Given the description of an element on the screen output the (x, y) to click on. 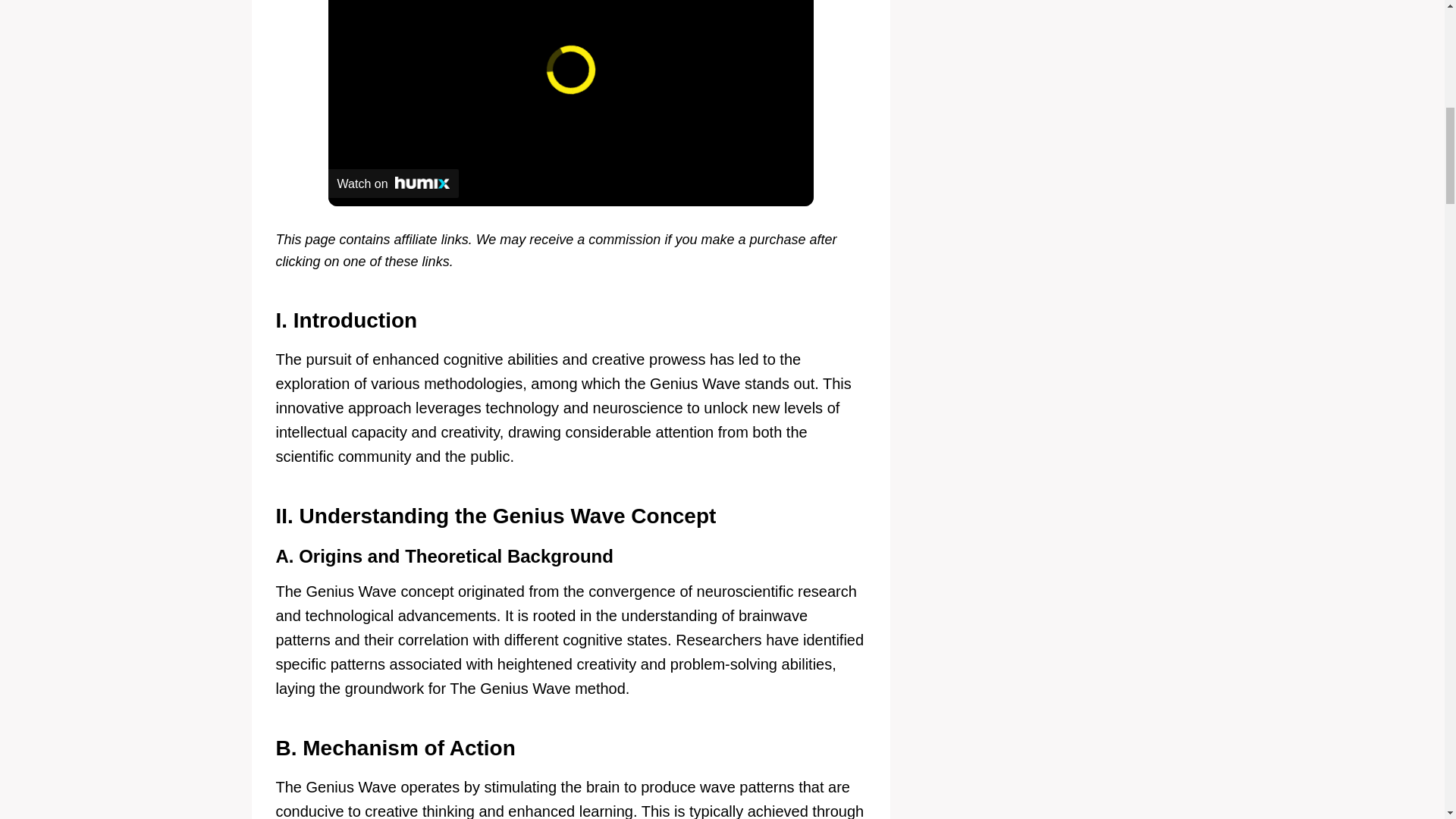
Watch on (393, 183)
